Given the description of an element on the screen output the (x, y) to click on. 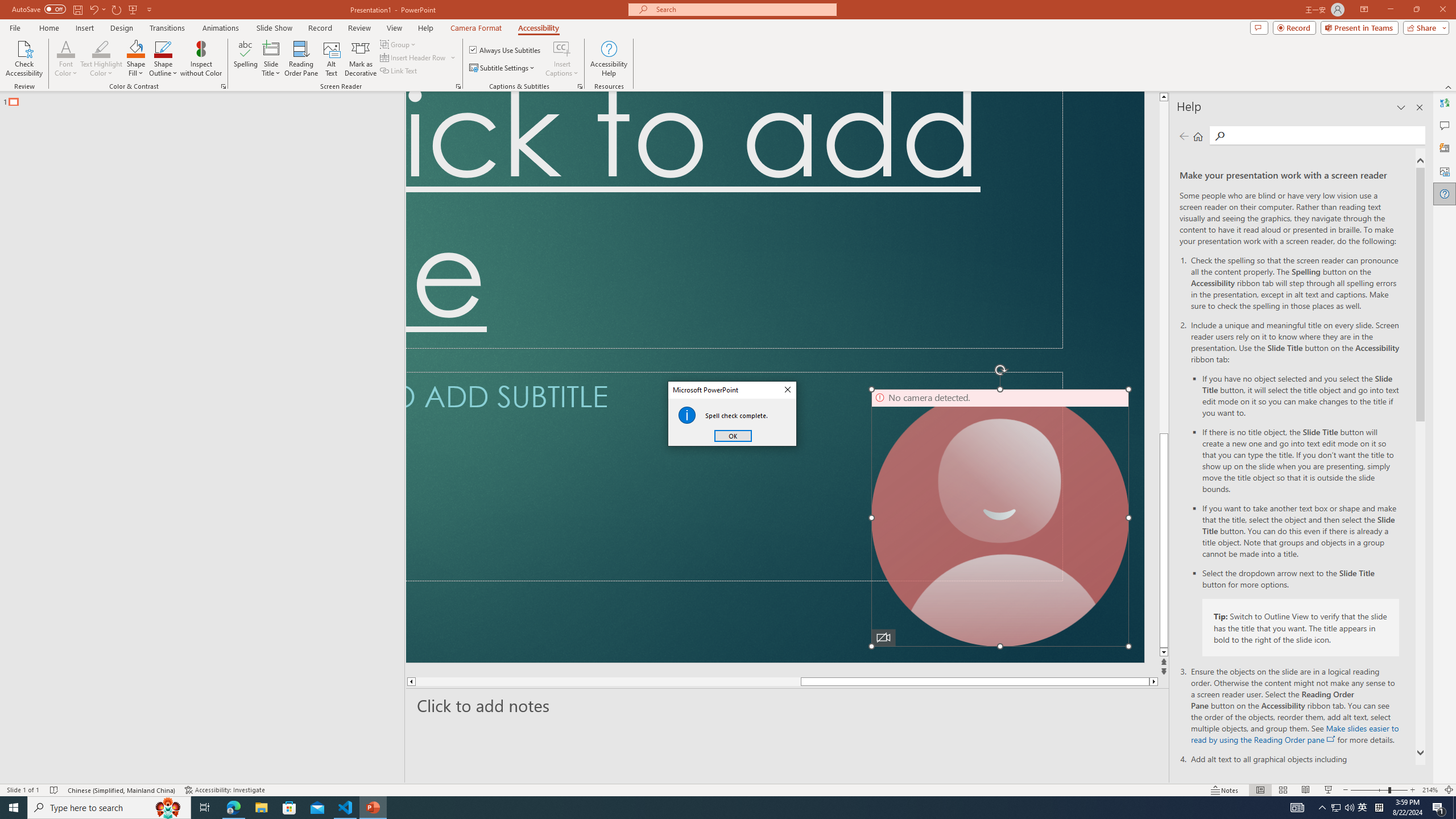
Line down (1448, 775)
5 more tabs (1217, 159)
Close (1435, 18)
Print (59, 504)
Poe (842, 800)
Help (1312, 18)
